Given the description of an element on the screen output the (x, y) to click on. 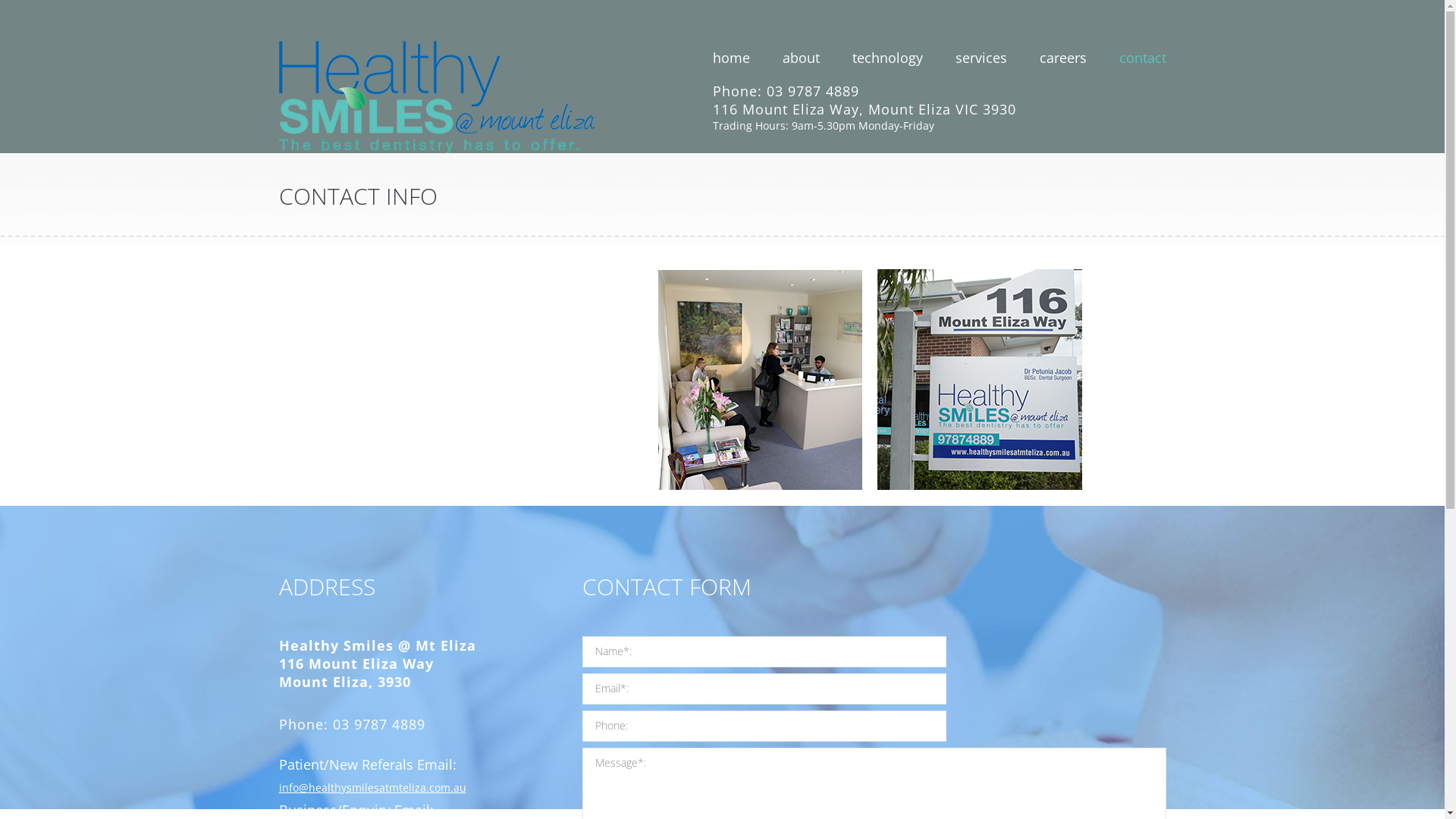
contact Element type: text (1142, 57)
about Element type: text (800, 57)
Phone: 03 9787 4889 Element type: text (785, 90)
technology Element type: text (887, 57)
home Element type: text (730, 57)
info@healthysmilesatmteliza.com.au Element type: text (372, 787)
services Element type: text (981, 57)
careers Element type: text (1061, 57)
